Given the description of an element on the screen output the (x, y) to click on. 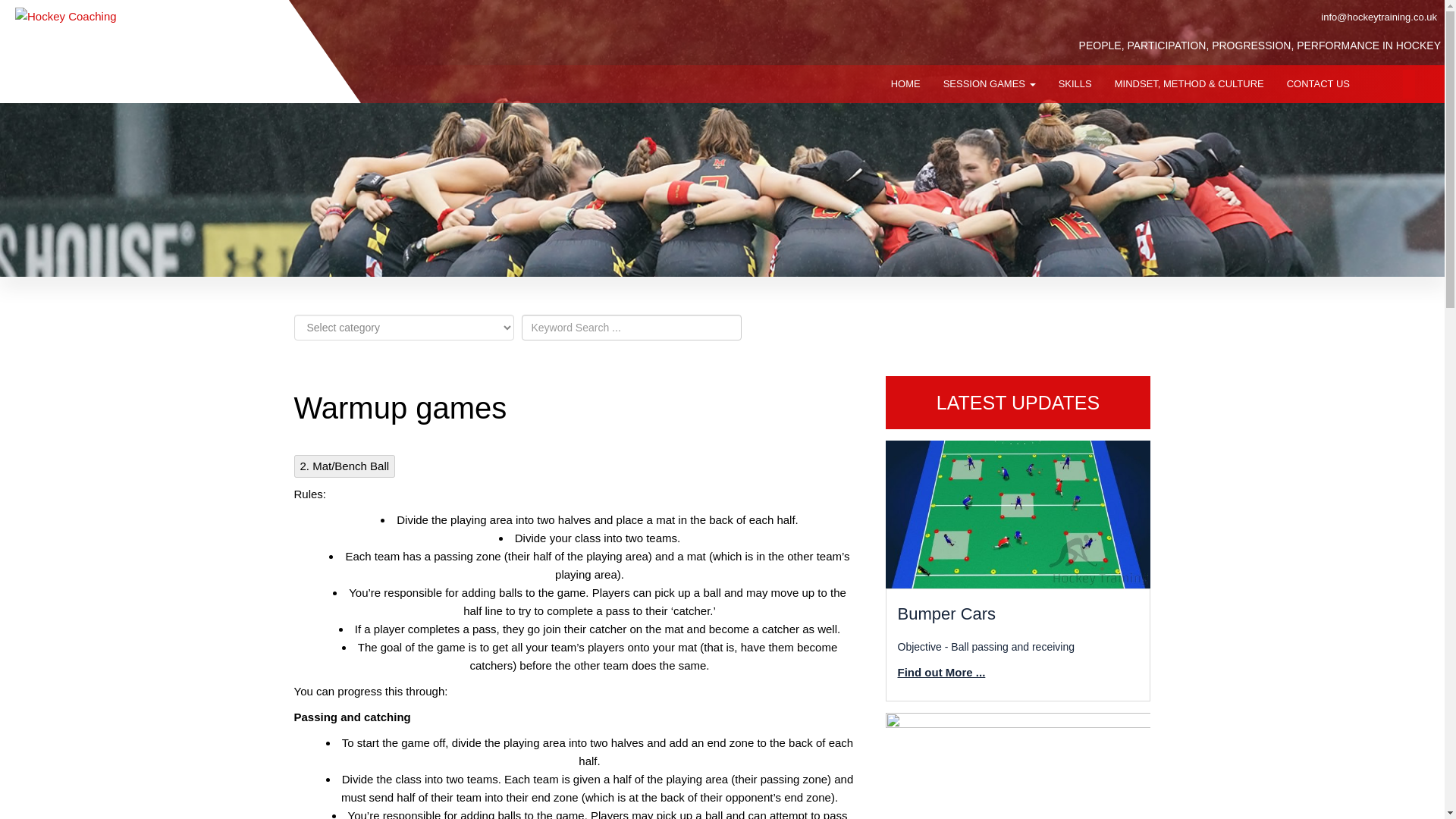
Session games (988, 84)
SESSION GAMES (988, 84)
SKILLS (1074, 84)
Search (23, 10)
CONTACT US (1318, 84)
Home (905, 84)
Skills (1074, 84)
HOME (905, 84)
Contact Us (1318, 84)
